Given the description of an element on the screen output the (x, y) to click on. 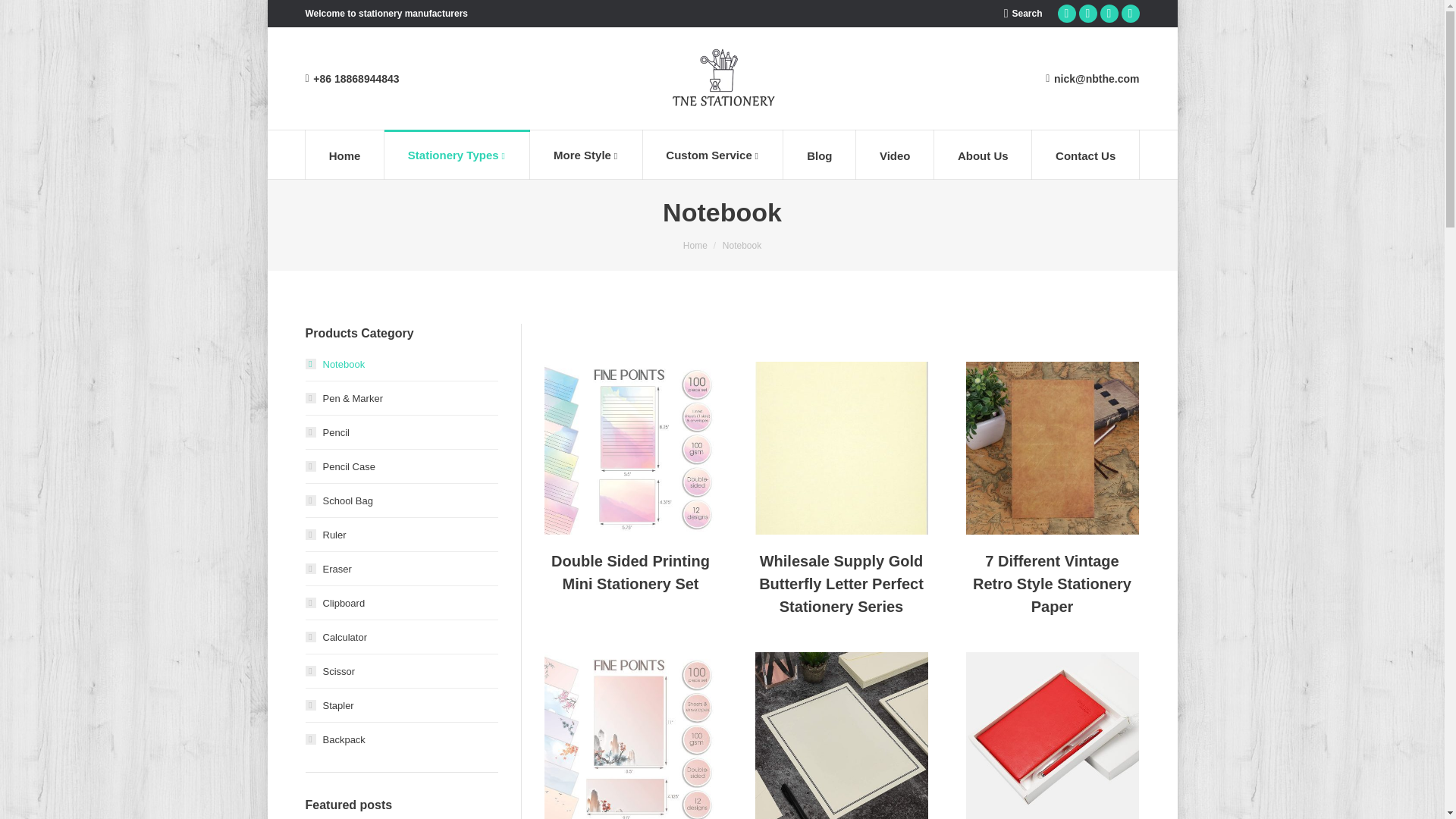
YouTube (1066, 13)
Twitter (1130, 13)
Stationery Types (456, 154)
7 Different Vintage Retro Style Stationery Paper (1052, 583)
Go! (22, 14)
More Style (585, 154)
Facebook (1109, 13)
Blog (819, 154)
Search (1023, 13)
YouTube (1066, 13)
Custom Service (712, 154)
Pinterest (1087, 13)
Facebook (1109, 13)
Twitter (1130, 13)
